Given the description of an element on the screen output the (x, y) to click on. 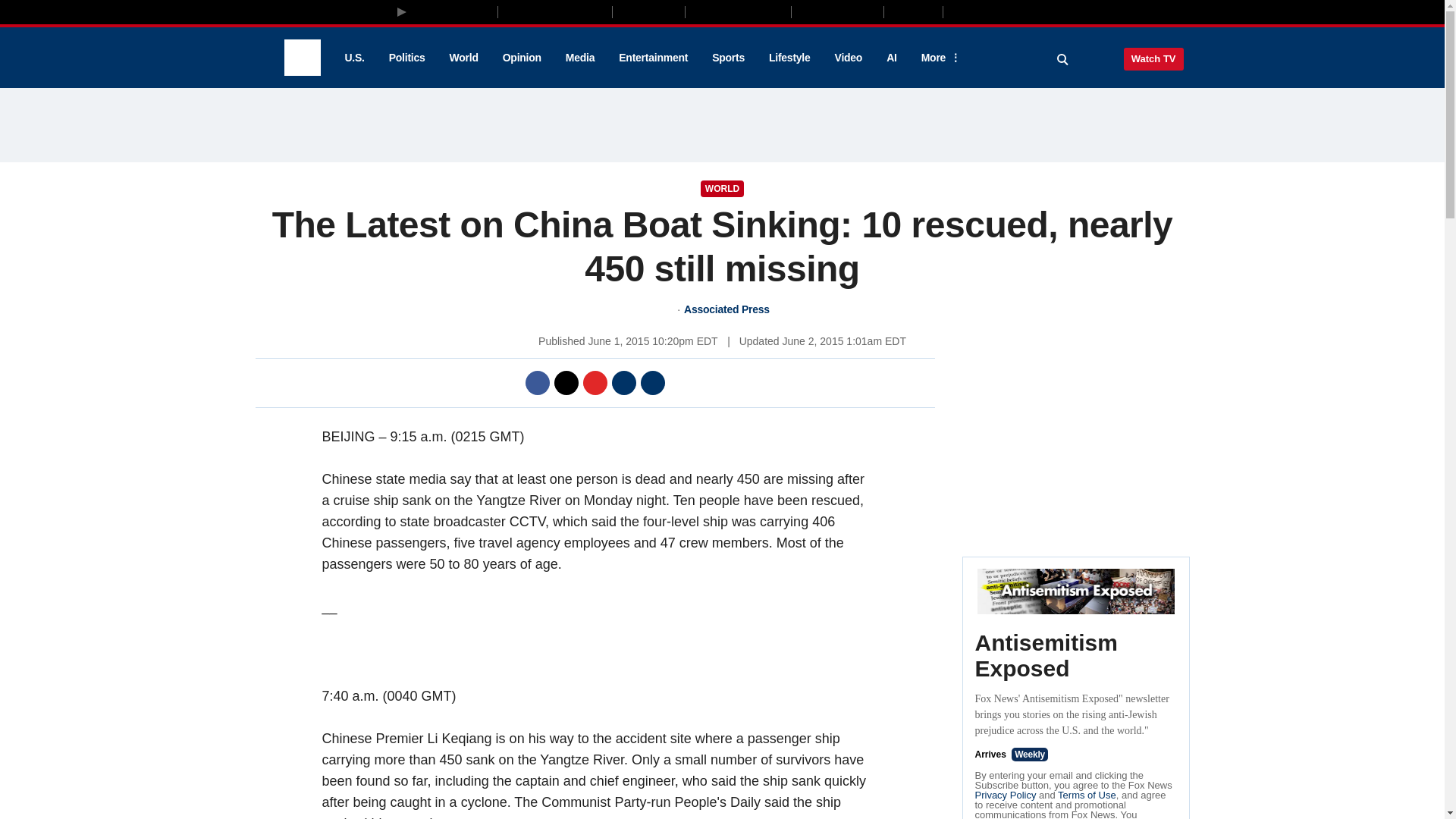
Outkick (912, 11)
Fox Weather (836, 11)
World (464, 57)
Video (848, 57)
Fox News (301, 57)
Media (580, 57)
Fox News Audio (737, 11)
Watch TV (1153, 58)
Opinion (521, 57)
More (938, 57)
